Given the description of an element on the screen output the (x, y) to click on. 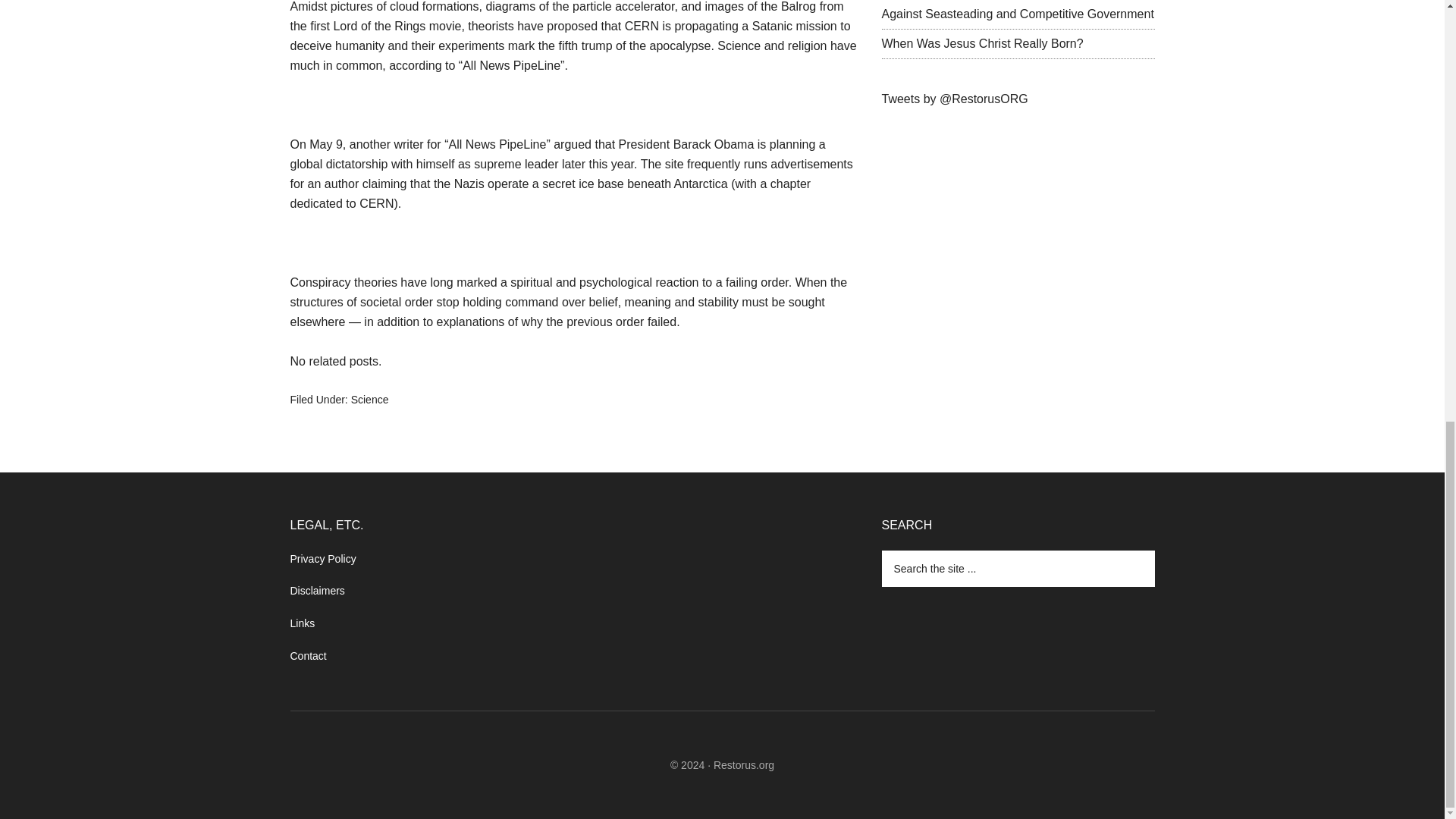
Links (301, 623)
Contact (307, 655)
Science (369, 399)
When Was Jesus Christ Really Born? (981, 42)
Restorus.org (743, 765)
Privacy Policy (322, 558)
Disclaimers (316, 590)
Against Seasteading and Competitive Government (1016, 13)
